Given the description of an element on the screen output the (x, y) to click on. 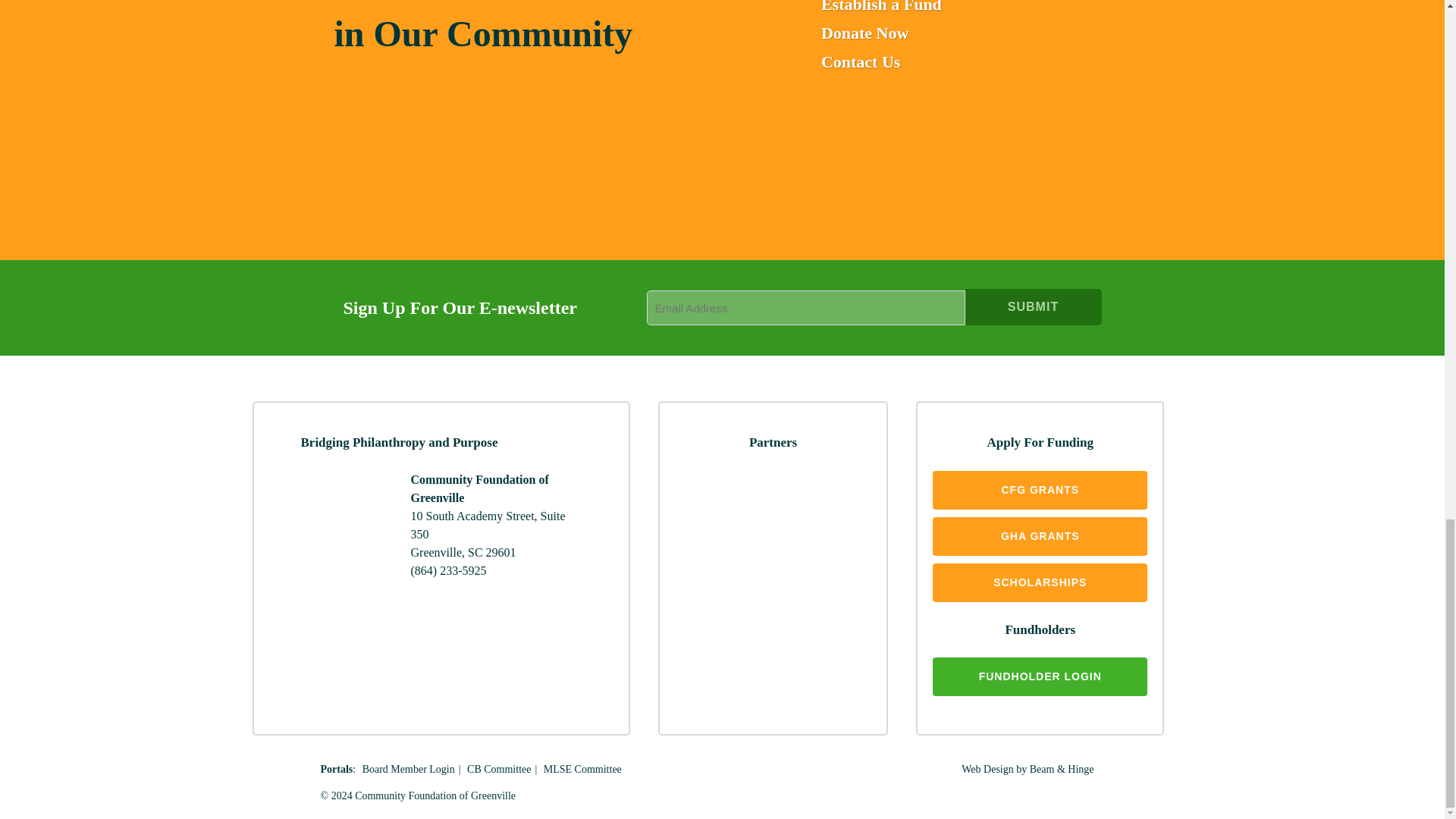
Web development in Columbia, SC (1026, 768)
Submit (1031, 307)
